Given the description of an element on the screen output the (x, y) to click on. 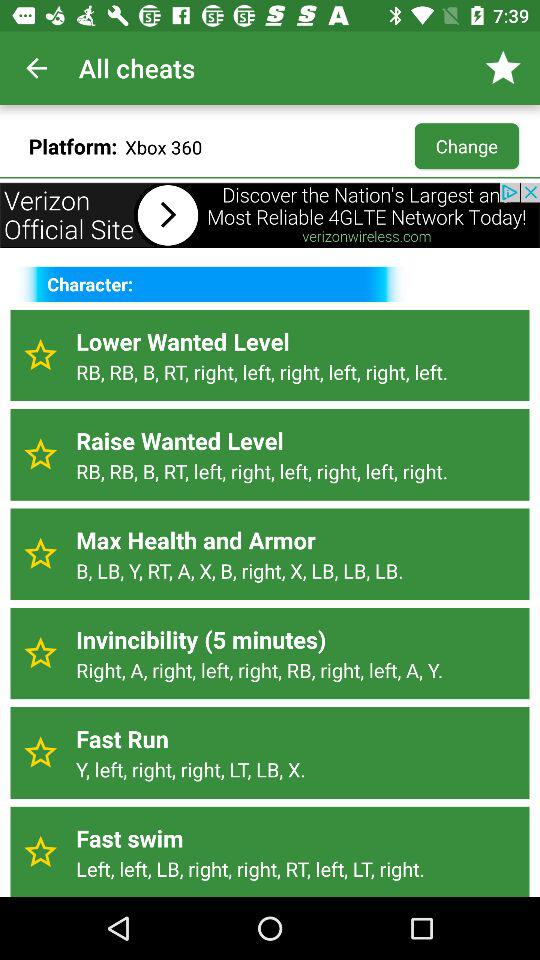
go to rating (40, 355)
